Given the description of an element on the screen output the (x, y) to click on. 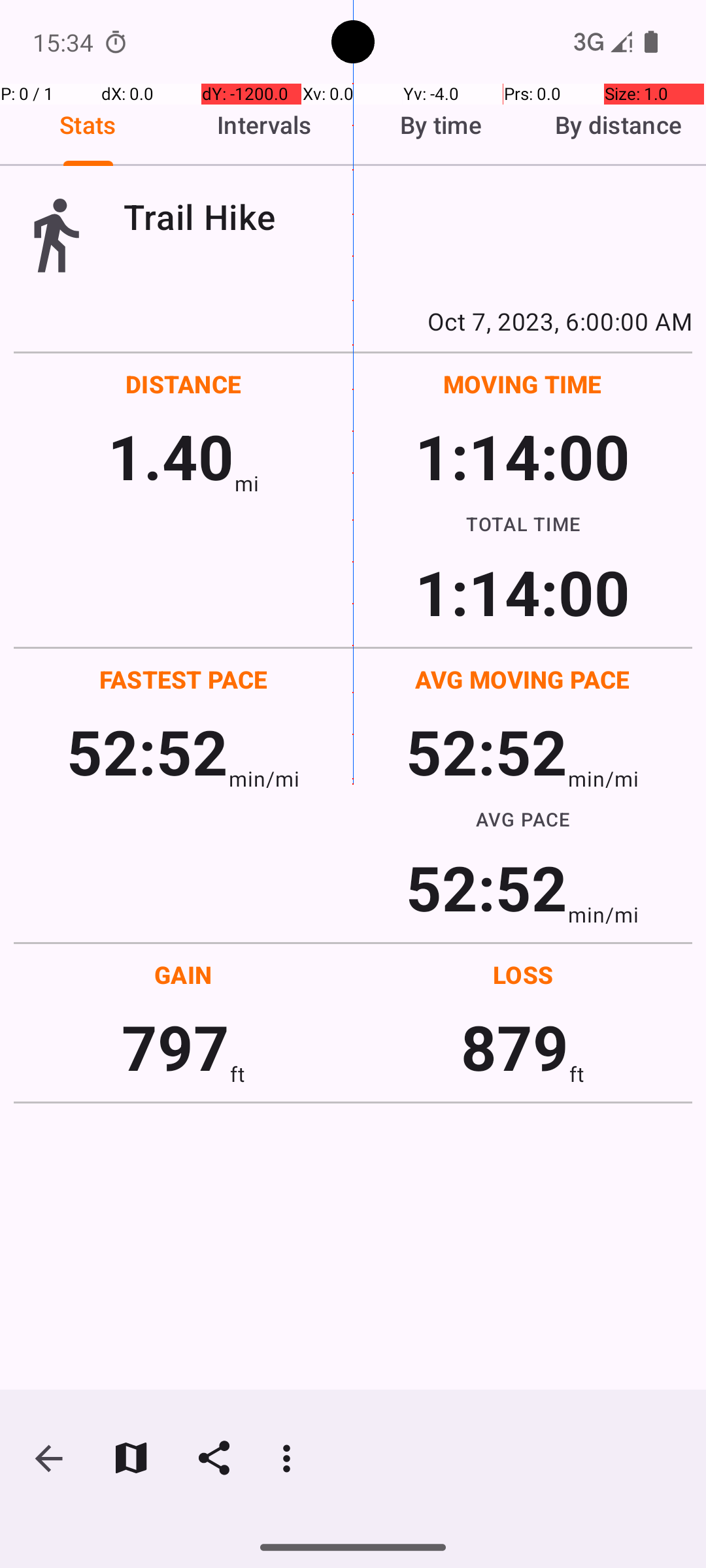
Trail Hike Element type: android.widget.TextView (407, 216)
Oct 7, 2023, 6:00:00 AM Element type: android.widget.TextView (352, 320)
1.40 Element type: android.widget.TextView (170, 455)
1:14:00 Element type: android.widget.TextView (522, 455)
52:52 Element type: android.widget.TextView (147, 750)
797 Element type: android.widget.TextView (175, 1045)
879 Element type: android.widget.TextView (514, 1045)
